Given the description of an element on the screen output the (x, y) to click on. 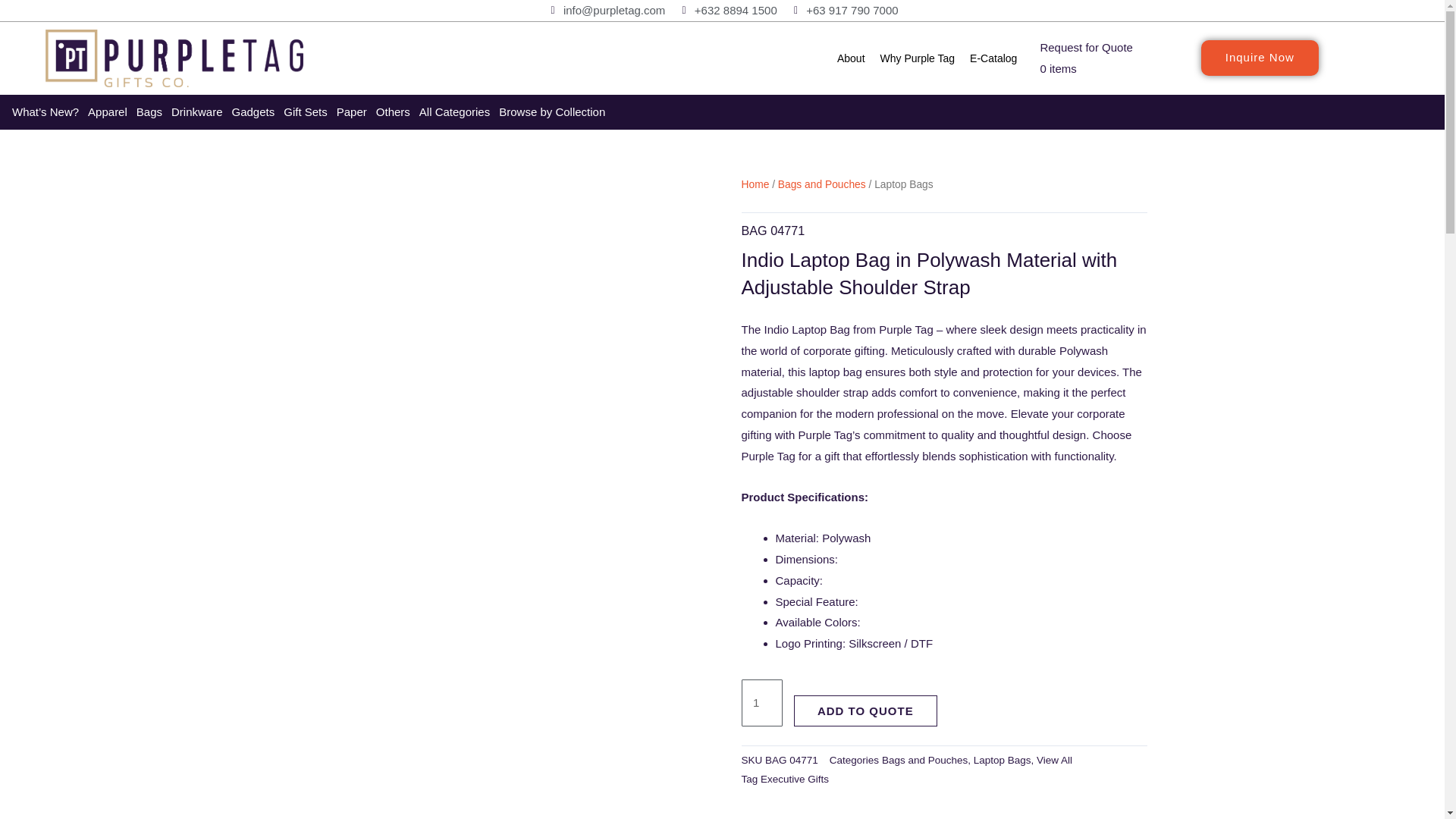
Why Purple Tag (917, 58)
0 items (1057, 68)
About (850, 58)
Apparel (107, 112)
E-Catalog (993, 58)
Gadgets (253, 112)
Request for Quote (1085, 47)
Bags (149, 112)
Drinkware (197, 112)
Inquire Now (1260, 58)
